Given the description of an element on the screen output the (x, y) to click on. 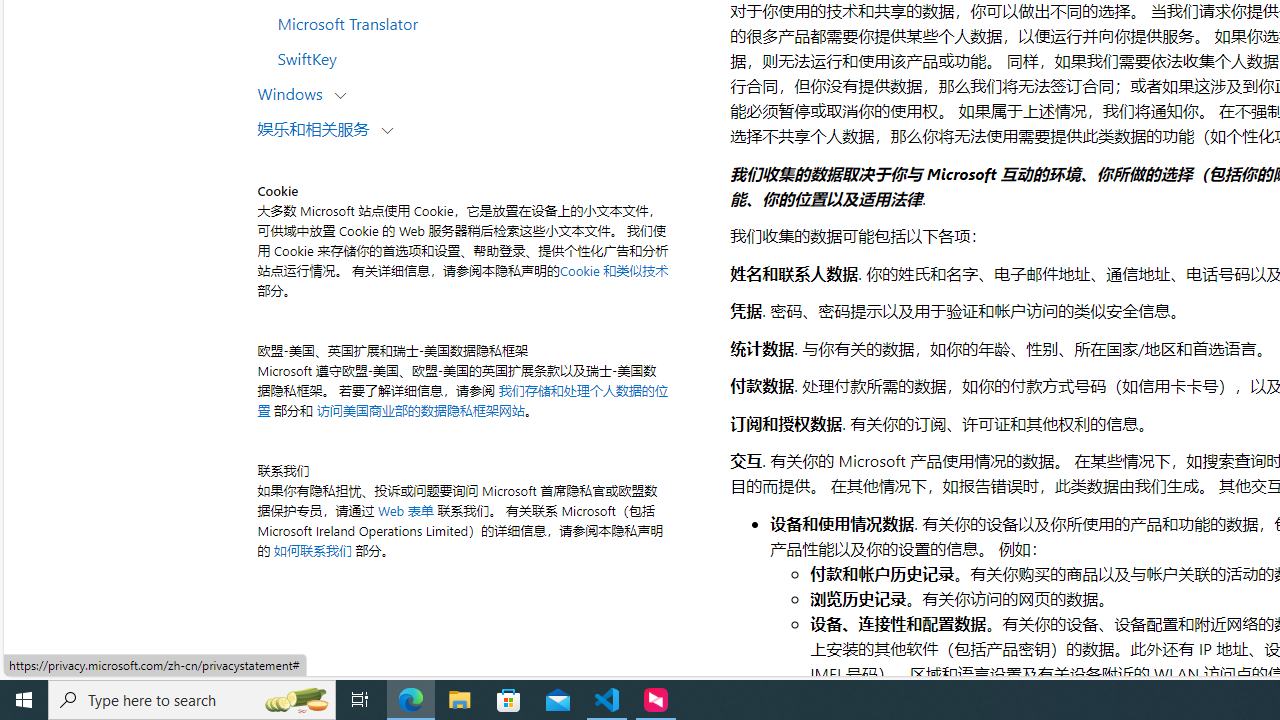
SwiftKey (483, 57)
Microsoft Translator (483, 23)
Windows (294, 92)
